Given the description of an element on the screen output the (x, y) to click on. 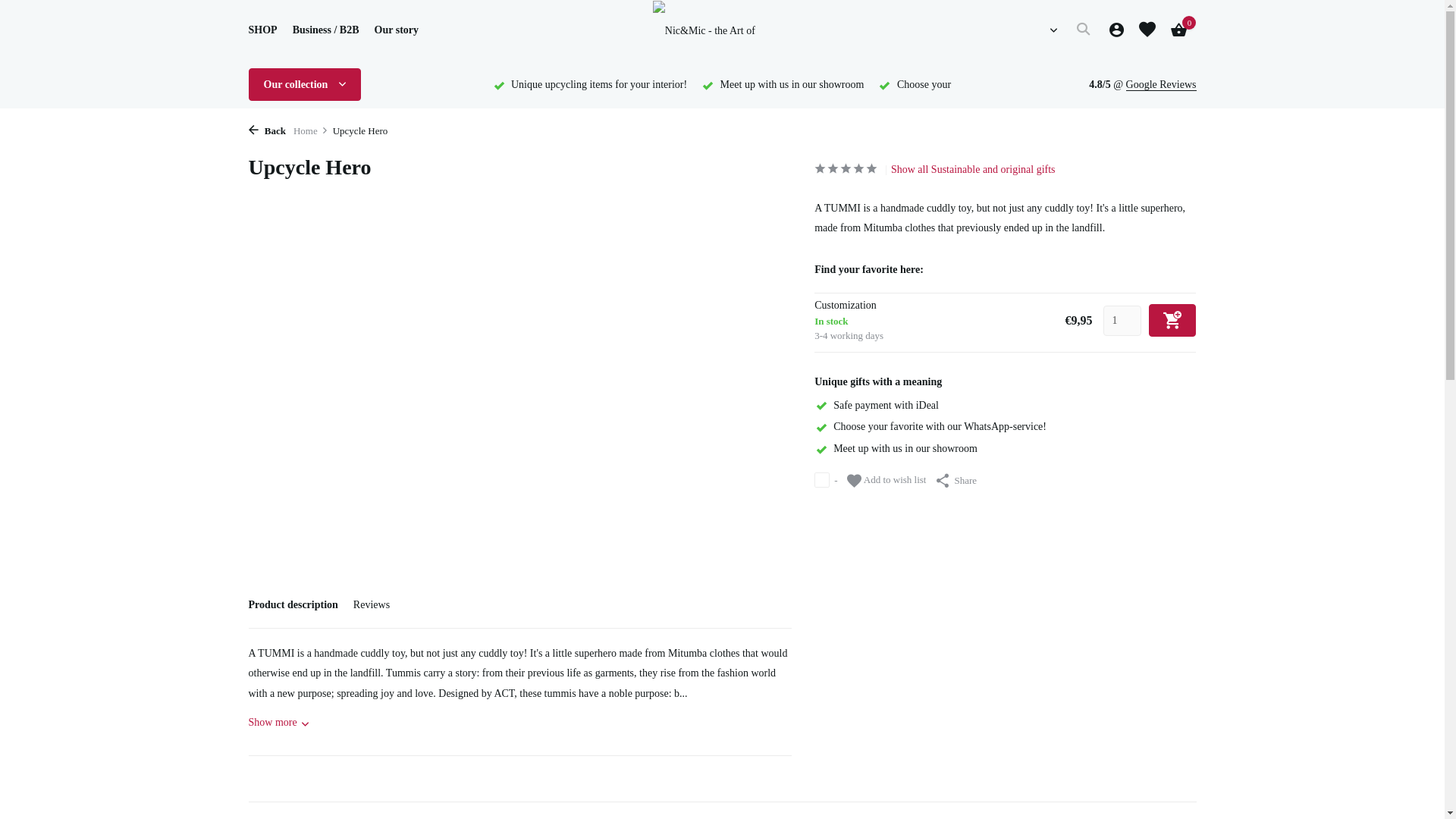
Search (1082, 30)
Our story (396, 30)
SHOP (263, 30)
0 (1174, 30)
Our story (396, 30)
1 (1122, 320)
SHOP (263, 30)
